Given the description of an element on the screen output the (x, y) to click on. 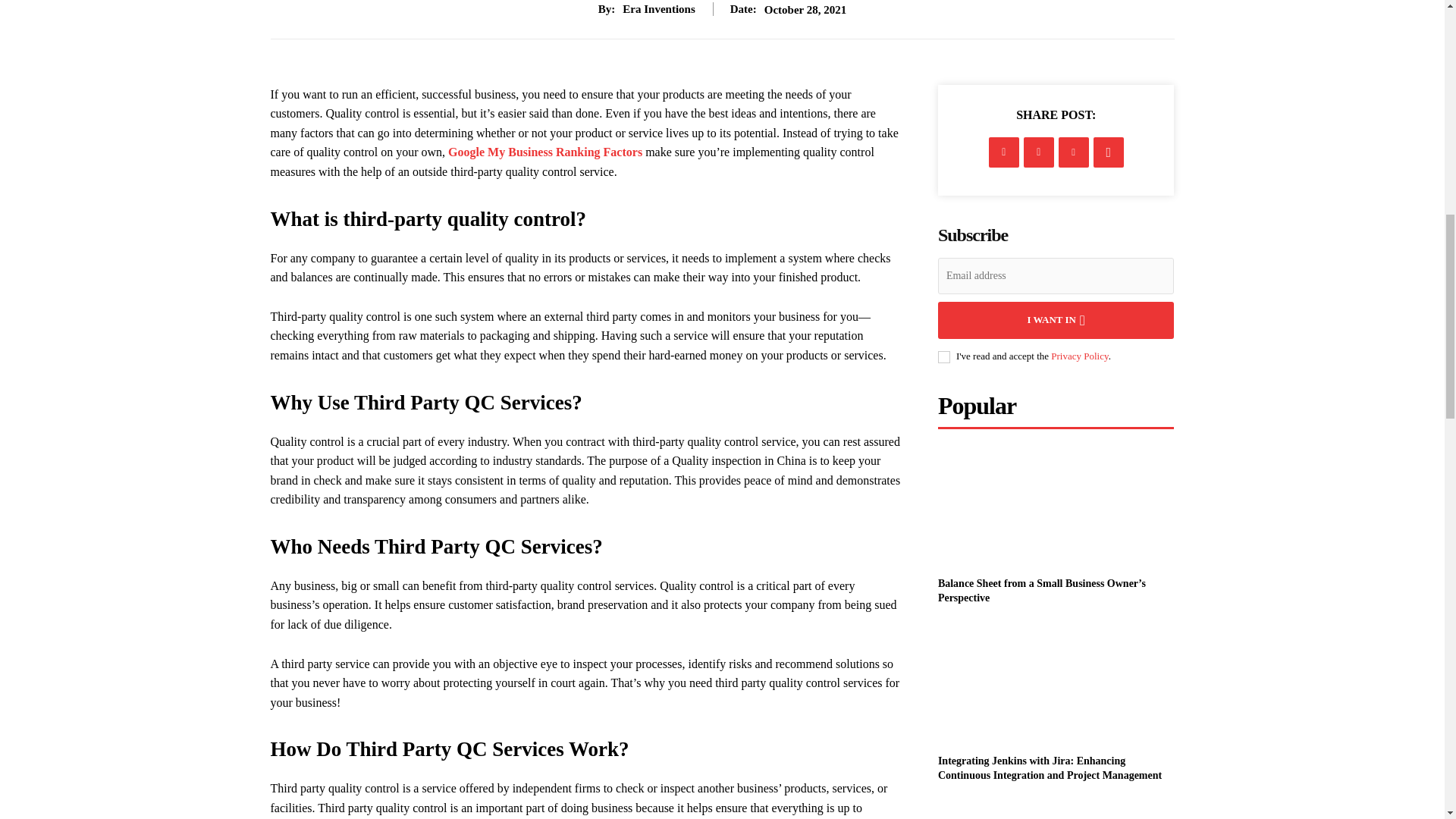
Pinterest (1073, 152)
Era Inventions (658, 8)
Facebook (1003, 152)
WhatsApp (1108, 152)
Twitter (1038, 152)
